Given the description of an element on the screen output the (x, y) to click on. 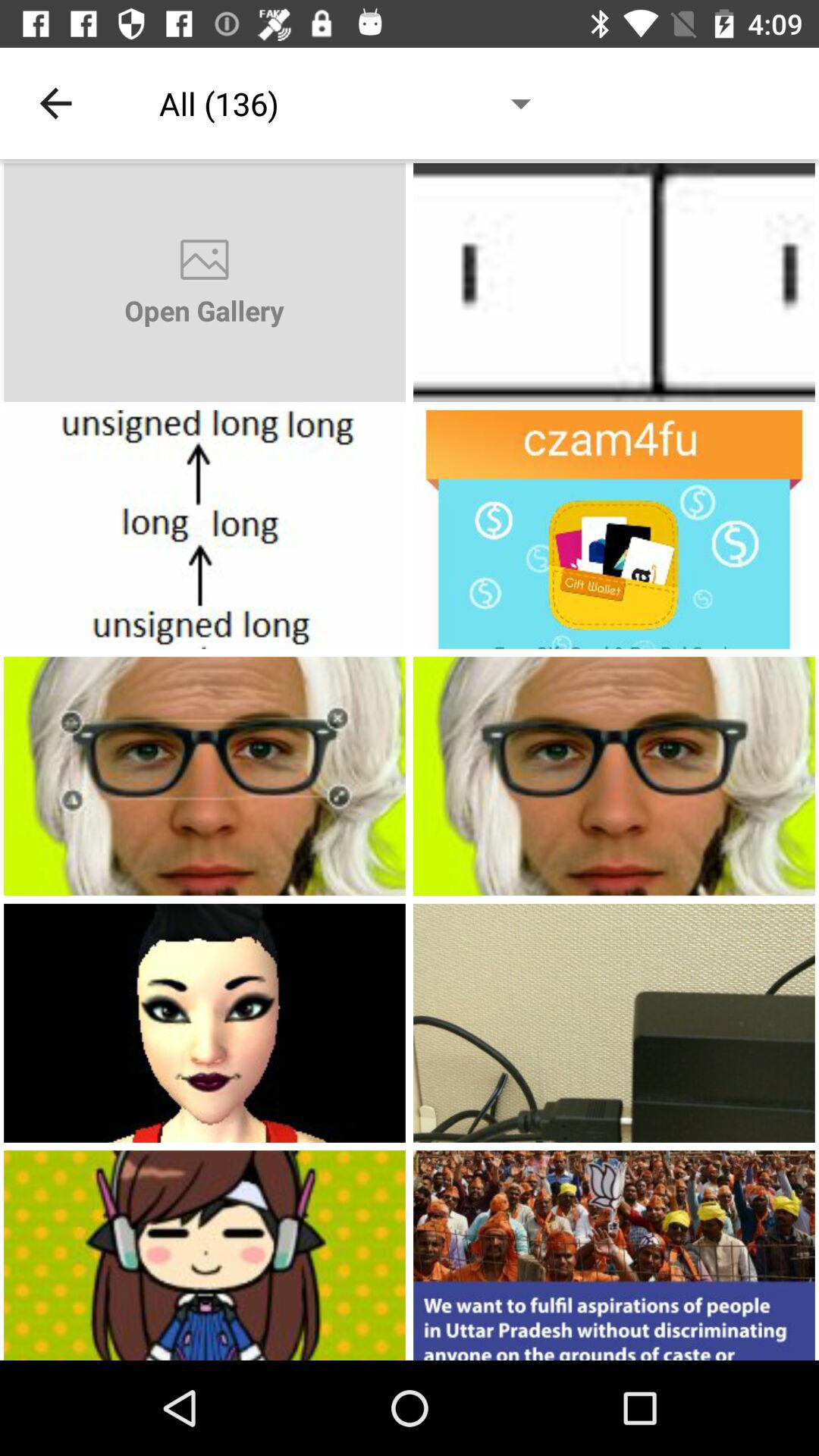
open (204, 529)
